Given the description of an element on the screen output the (x, y) to click on. 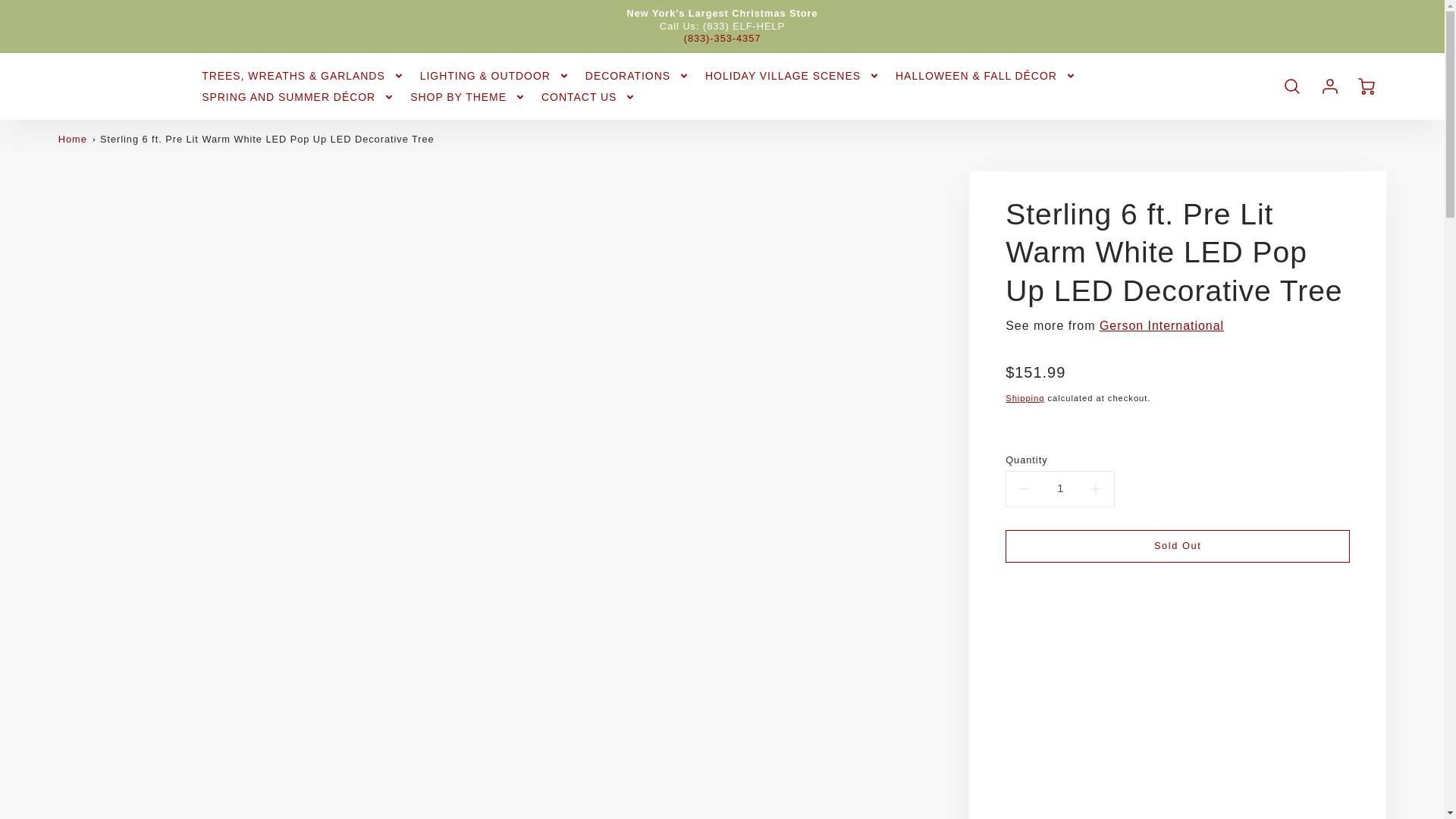
DECORATIONS (637, 75)
1 (1059, 488)
Gerson International (1161, 325)
